Given the description of an element on the screen output the (x, y) to click on. 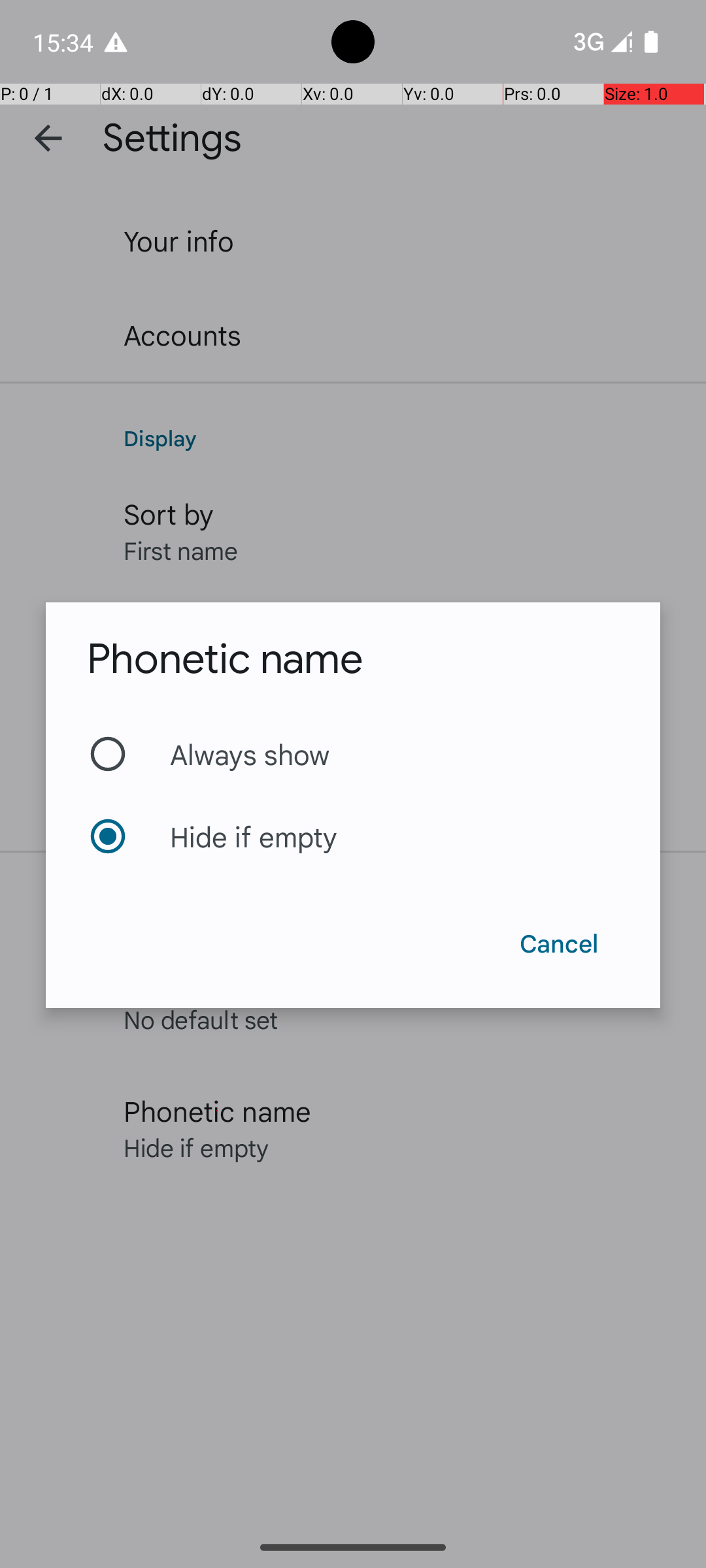
Phonetic name Element type: android.widget.TextView (224, 659)
Always show Element type: android.widget.CheckedTextView (352, 753)
Hide if empty Element type: android.widget.CheckedTextView (352, 836)
